Given the description of an element on the screen output the (x, y) to click on. 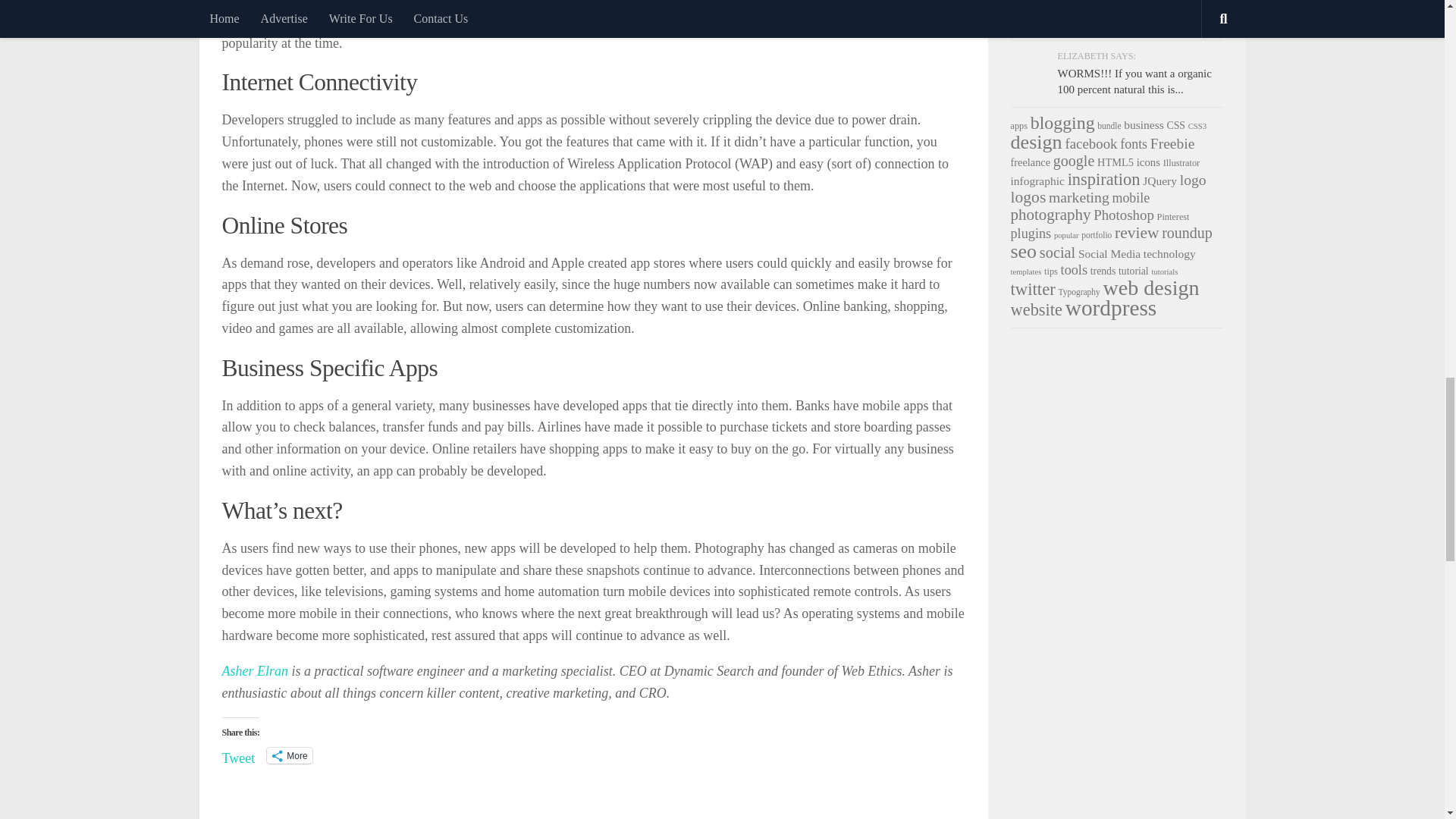
Asher Elran (254, 670)
Tweet (237, 754)
More (288, 755)
